Given the description of an element on the screen output the (x, y) to click on. 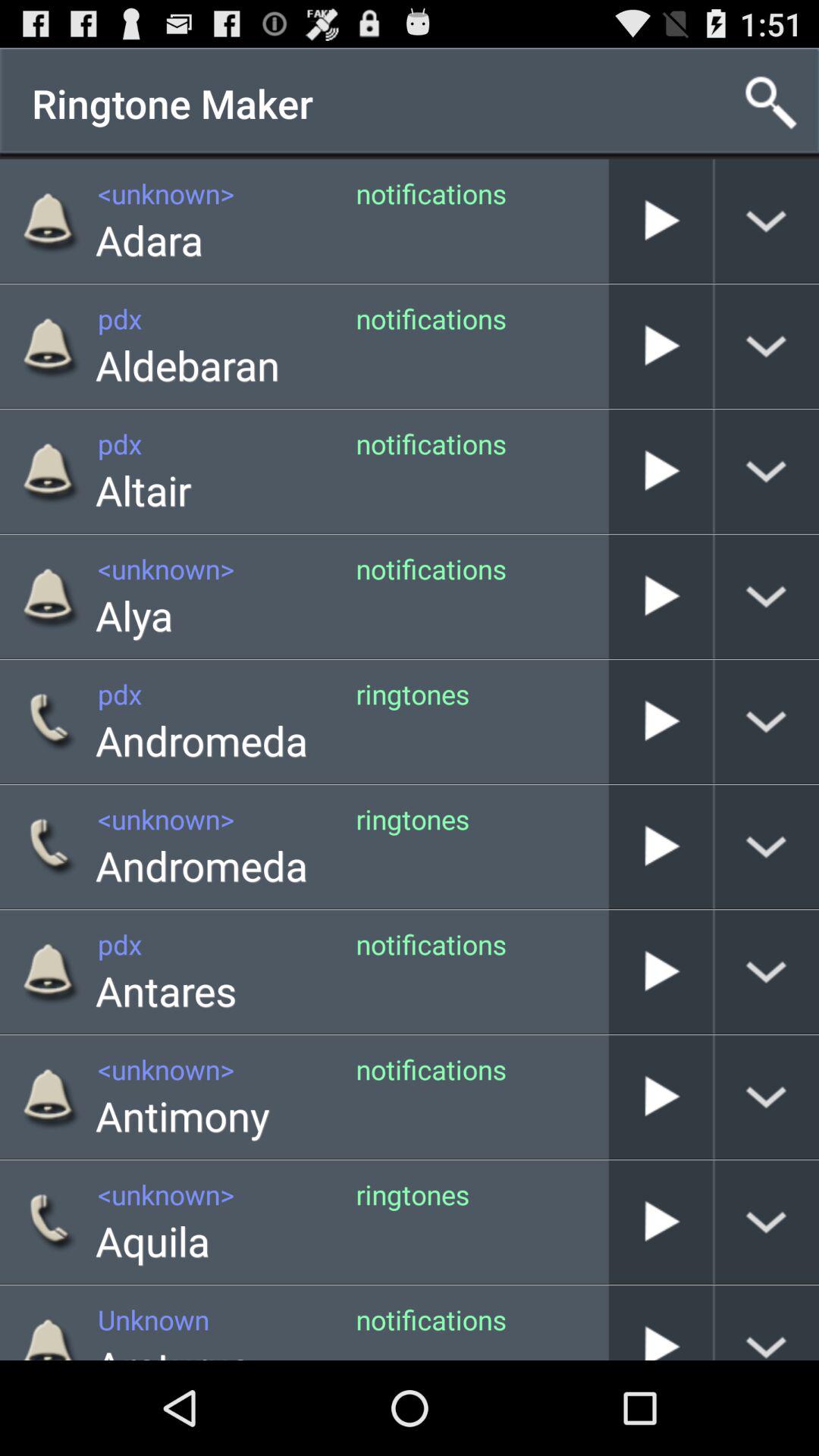
expand (767, 721)
